Given the description of an element on the screen output the (x, y) to click on. 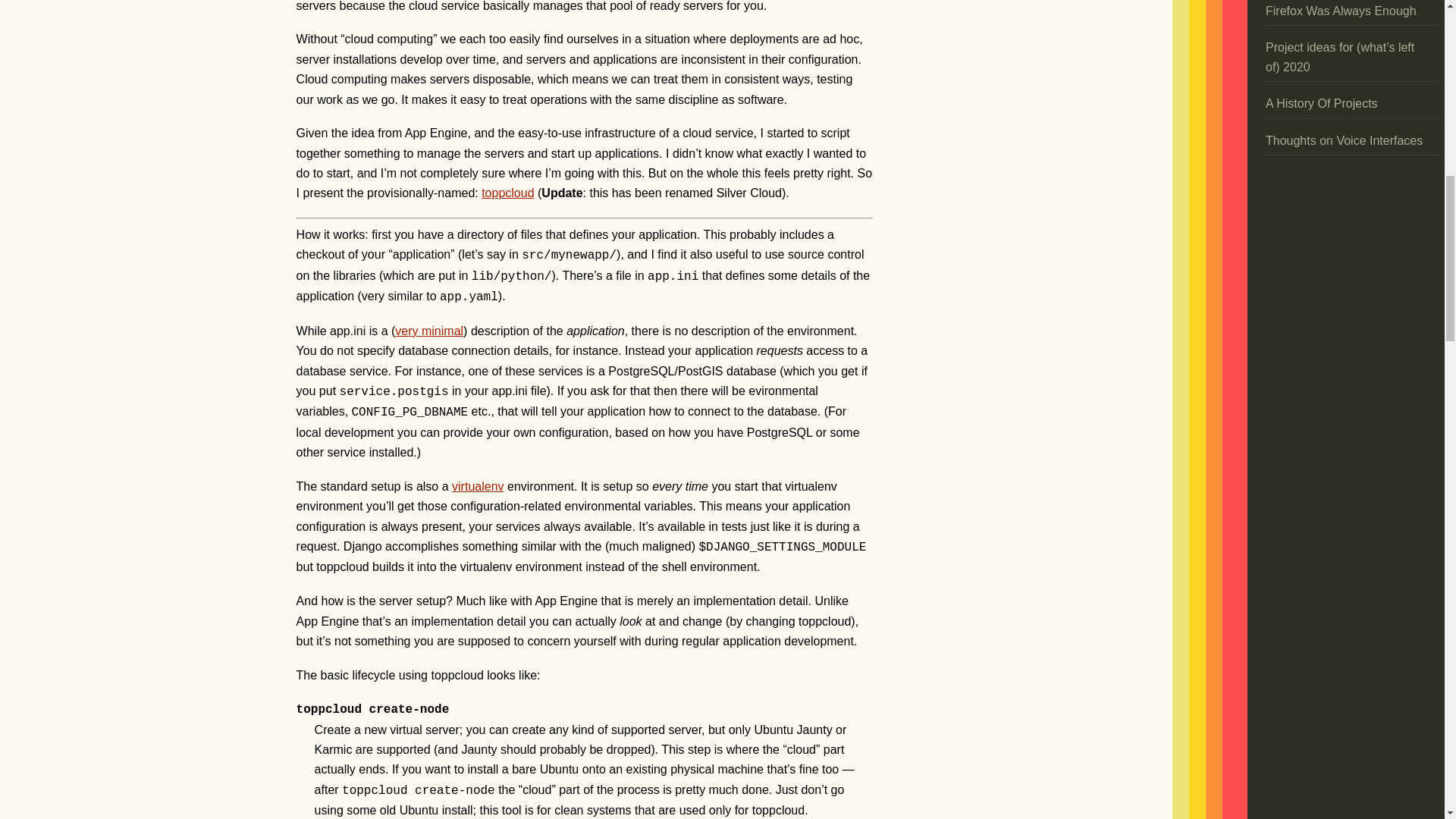
toppcloud (507, 192)
virtualenv (477, 486)
very minimal (428, 330)
